Given the description of an element on the screen output the (x, y) to click on. 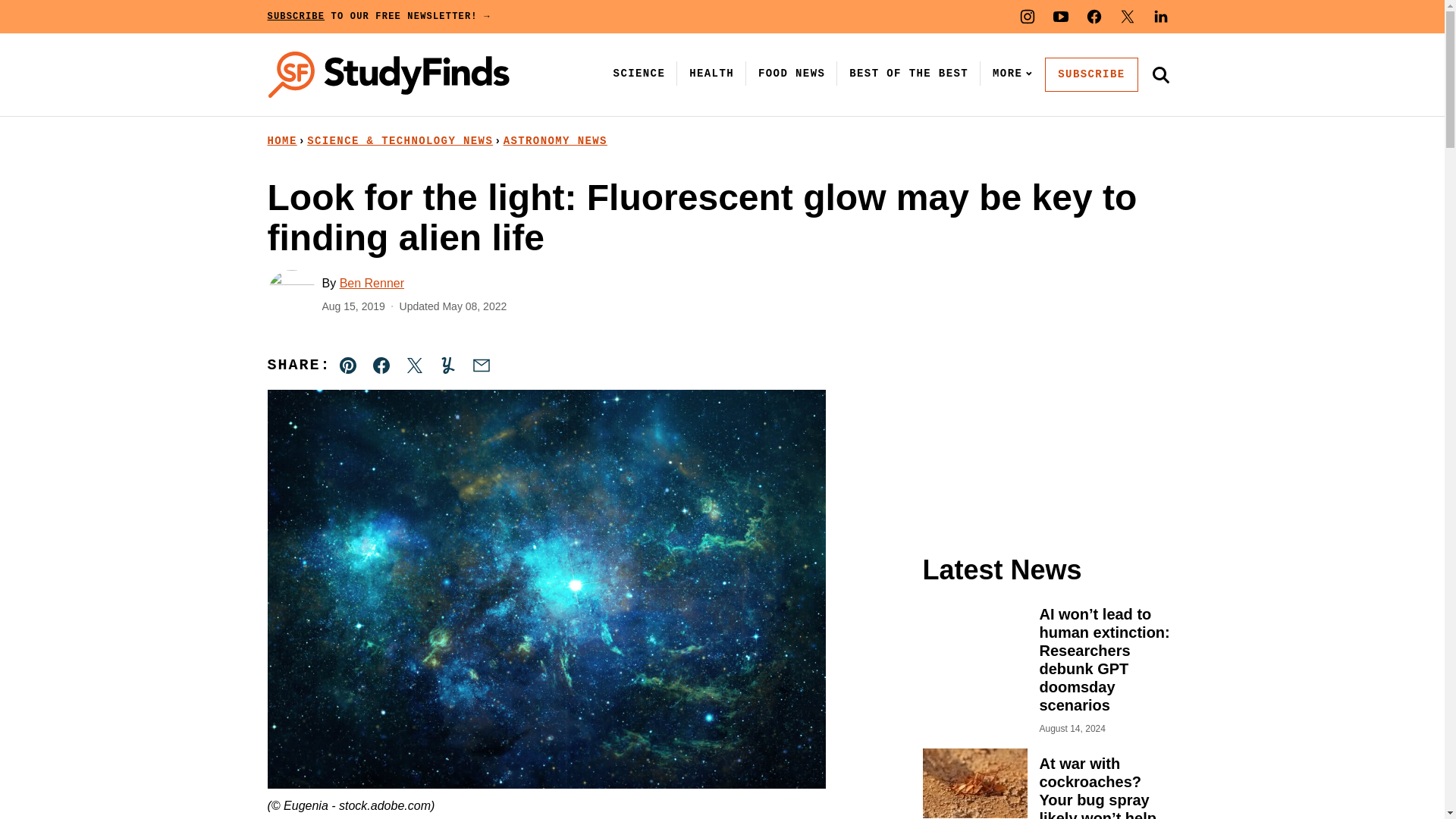
Share on Twitter (413, 365)
Share on Facebook (381, 365)
Share via Email (480, 365)
FOOD NEWS (791, 73)
BEST OF THE BEST (908, 73)
MORE (1009, 73)
HEALTH (711, 73)
HOME (281, 141)
Share on Pinterest (348, 365)
SCIENCE (639, 73)
